Given the description of an element on the screen output the (x, y) to click on. 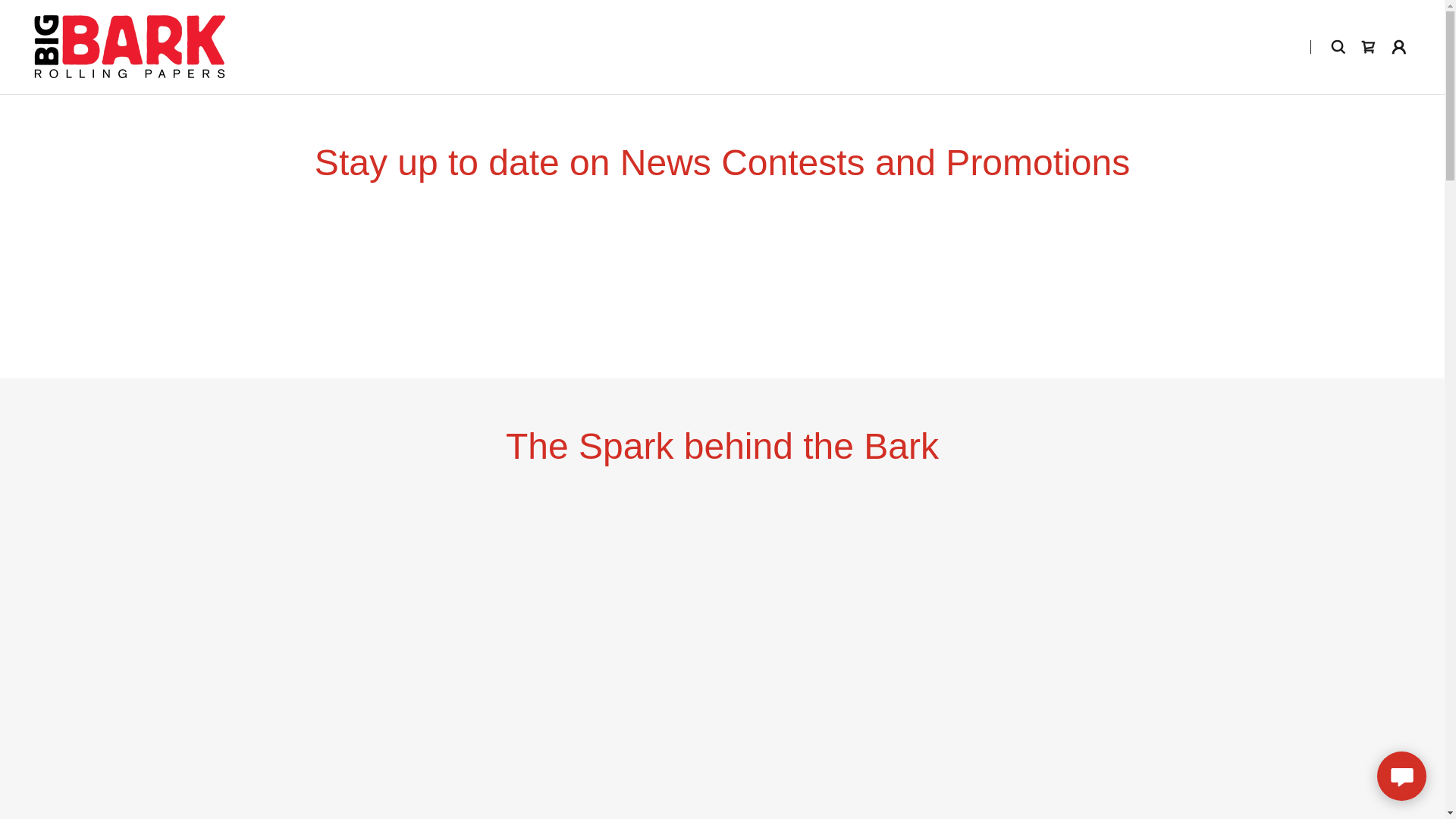
Bigbark Rolling Papers (129, 46)
